Given the description of an element on the screen output the (x, y) to click on. 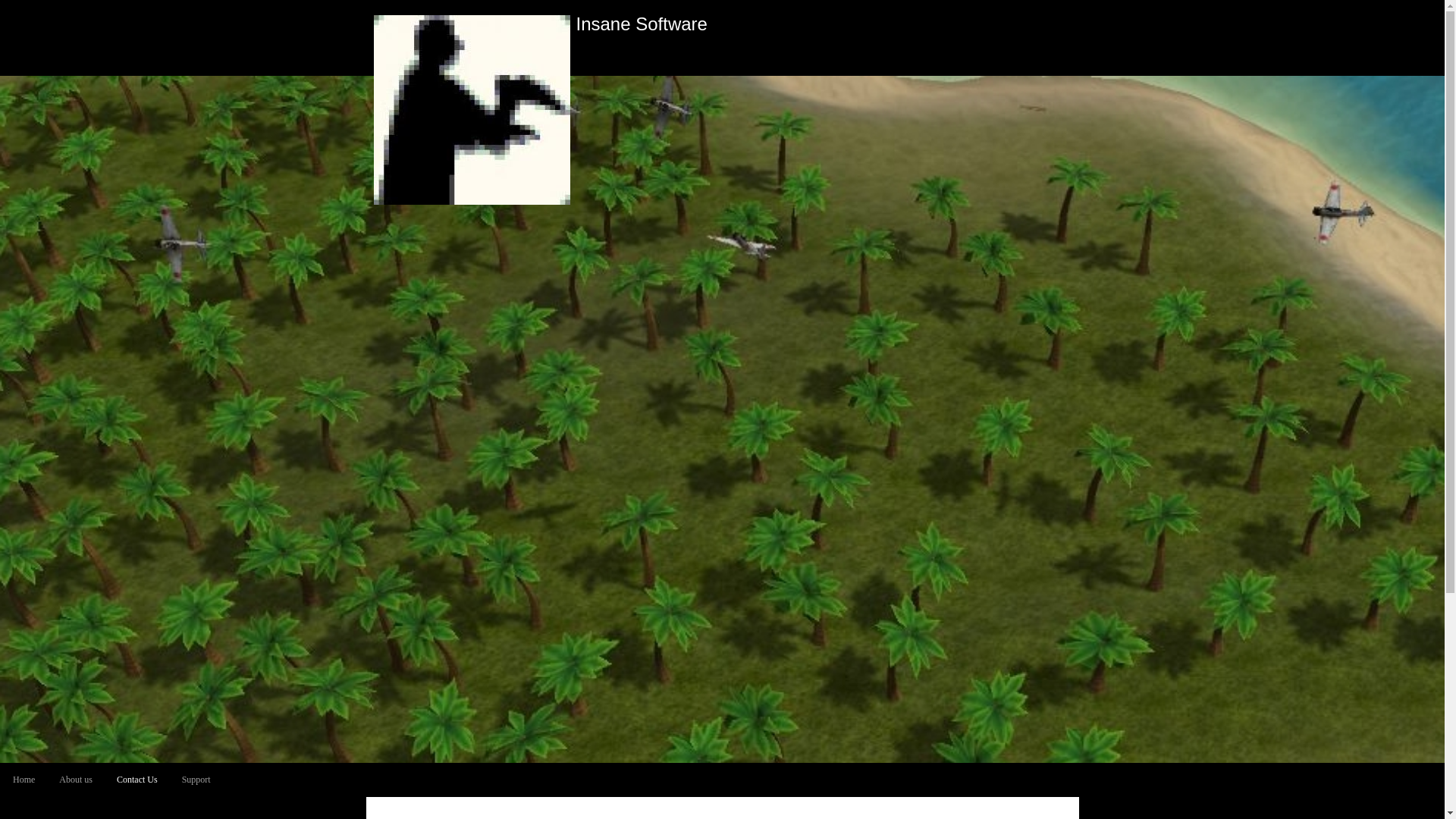
About us Element type: text (75, 779)
Contact Us Element type: text (137, 779)
Home Element type: text (23, 779)
Support Element type: text (196, 779)
